Given the description of an element on the screen output the (x, y) to click on. 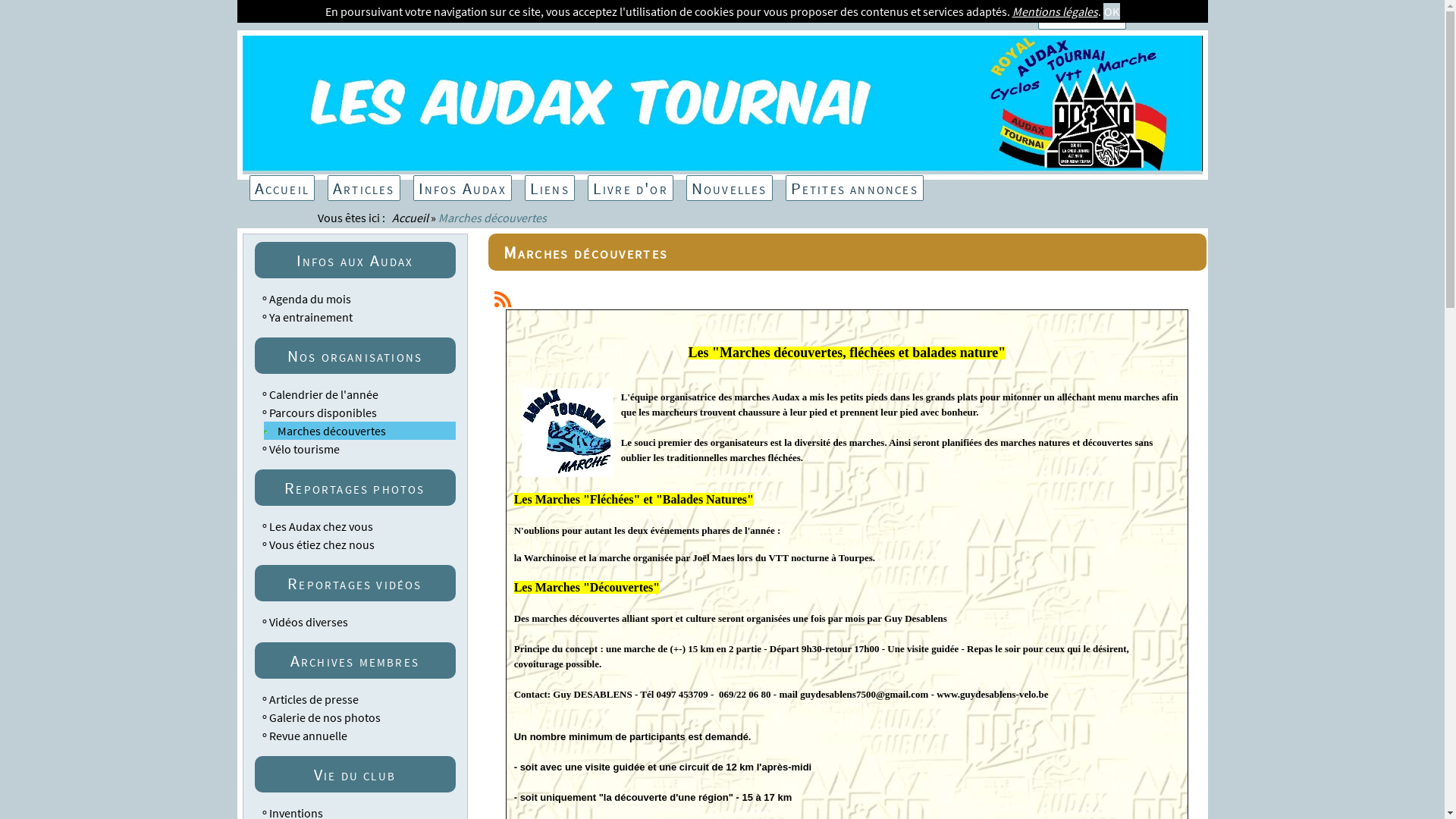
Articles Element type: text (363, 187)
guydesablens7500@gmail.com Element type: text (864, 693)
Connexion Element type: text (1082, 16)
Articles de presse Element type: text (312, 698)
Nouvelles Element type: text (729, 187)
Accueil Element type: text (409, 217)
Petites annonces Element type: text (854, 187)
Accueil Element type: text (280, 187)
www.guydesablens-velo.be Element type: text (992, 693)
Ya entrainement Element type: text (309, 316)
Revue annuelle Element type: text (307, 735)
Parcours disponibles Element type: text (322, 412)
Liens Element type: text (549, 187)
Infos Audax Element type: text (462, 187)
Audax Tournai Element type: hover (722, 166)
Les Audax chez vous Element type: text (320, 525)
Livre d'or Element type: text (630, 187)
Galerie de nos photos Element type: text (323, 716)
OK Element type: text (1110, 11)
Agenda du mois Element type: text (309, 298)
